Given the description of an element on the screen output the (x, y) to click on. 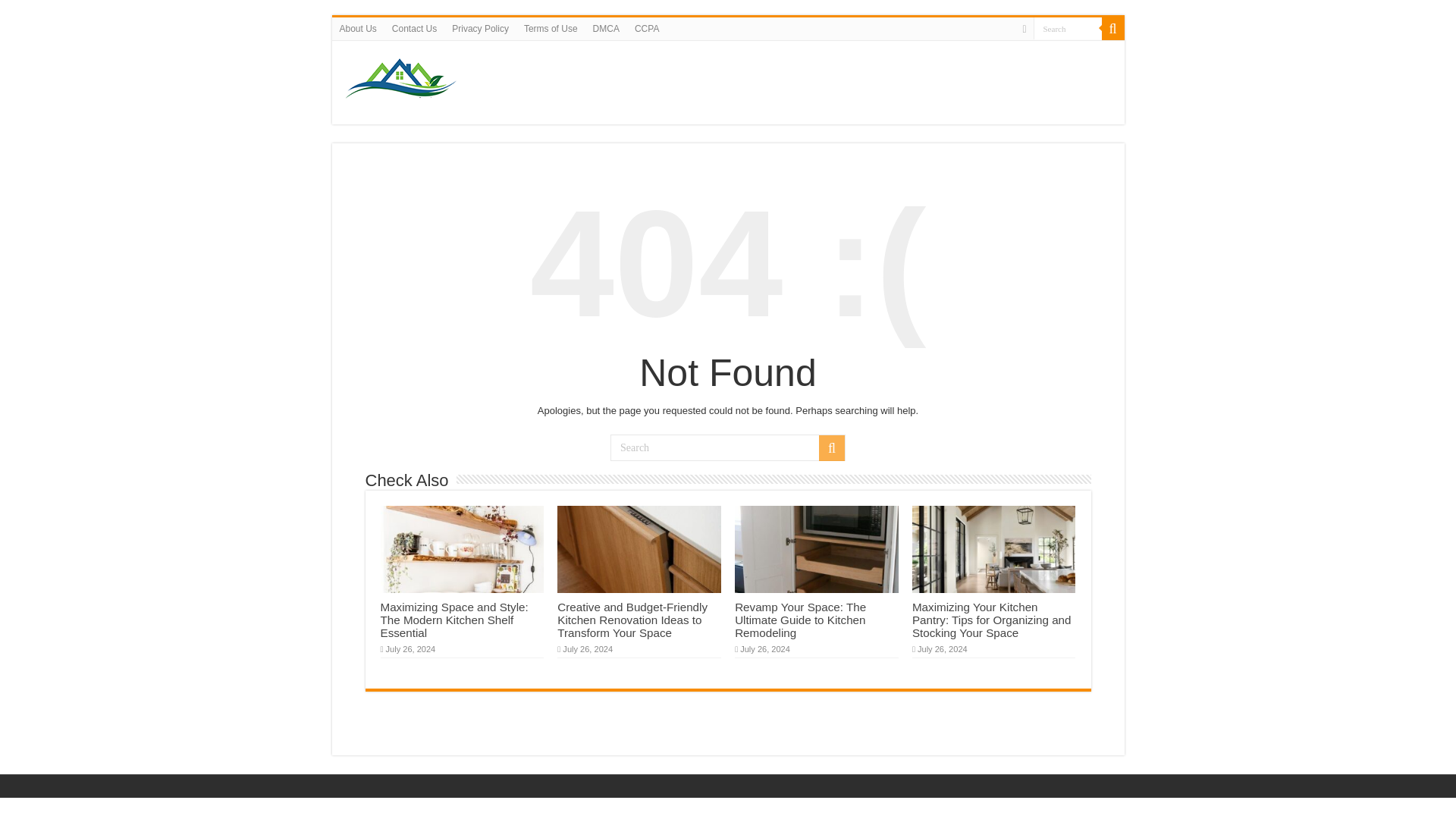
CCPA (646, 28)
Search (831, 447)
Search (1066, 28)
Decorationg (403, 79)
Privacy Policy (480, 28)
Contact Us (414, 28)
DMCA (606, 28)
Search (727, 447)
Search (1066, 28)
Search (1066, 28)
About Us (357, 28)
Terms of Use (550, 28)
Revamp Your Space: The Ultimate Guide to Kitchen Remodeling (800, 619)
